Given the description of an element on the screen output the (x, y) to click on. 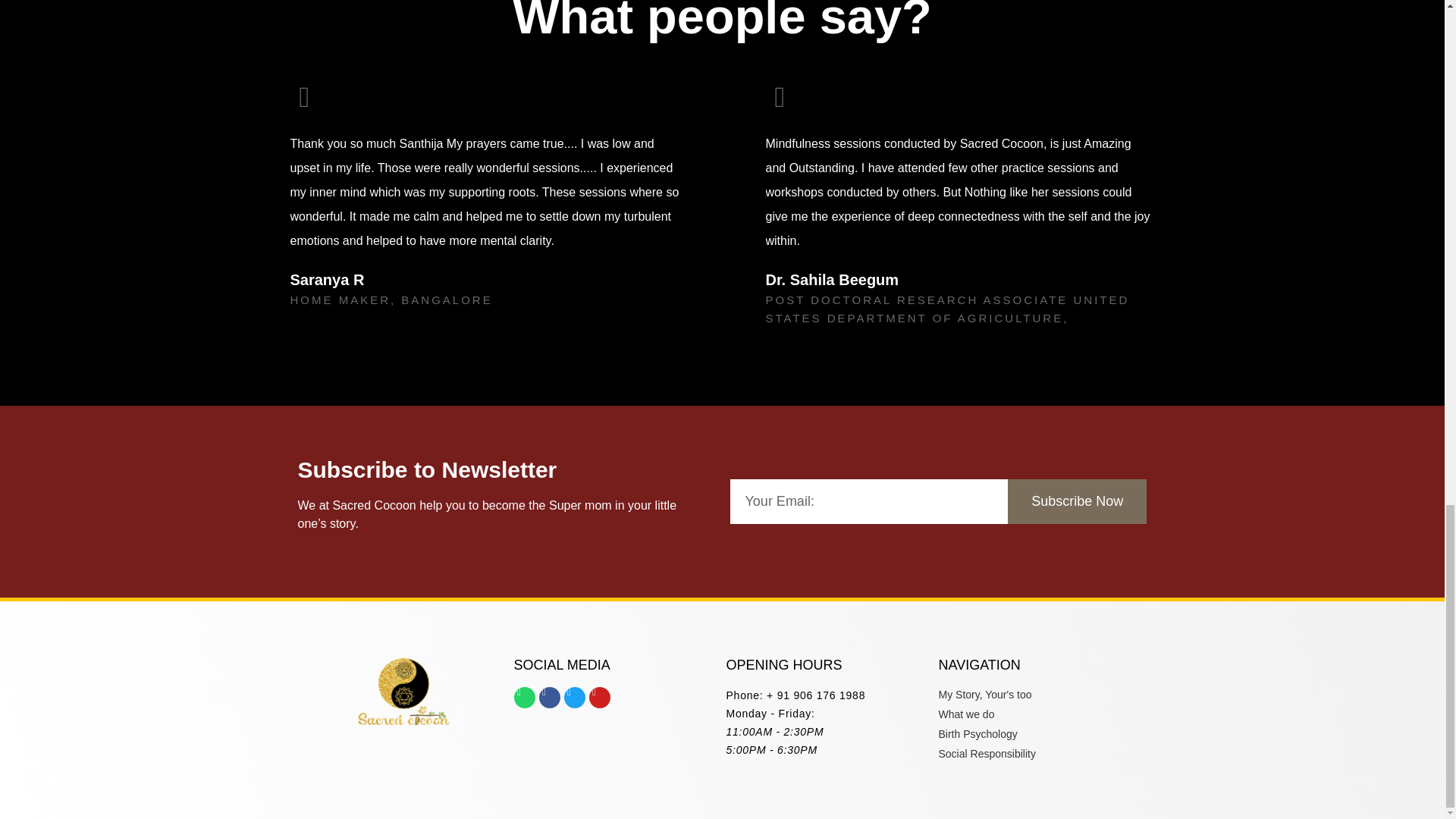
My Story, Your's too (1040, 694)
Subscribe Now (1077, 501)
What we do (1040, 714)
Birth Psychology (1040, 734)
Social Responsibility (1040, 754)
